Given the description of an element on the screen output the (x, y) to click on. 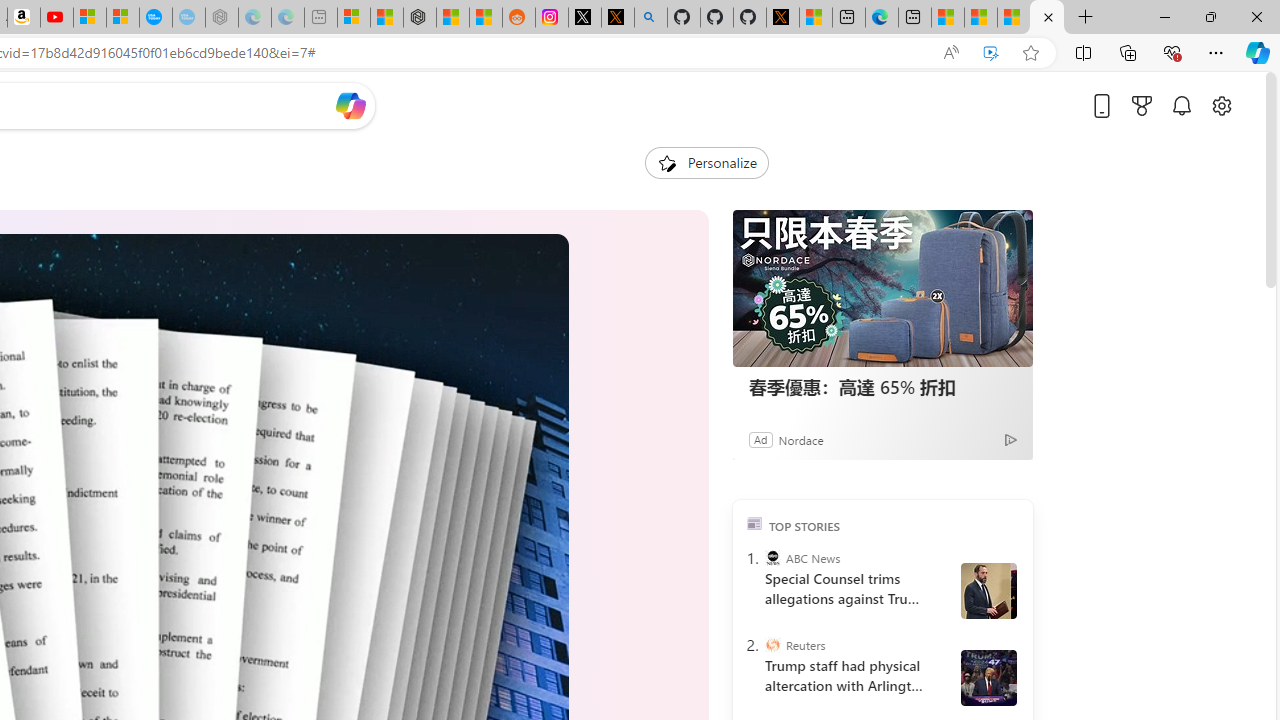
X Privacy Policy (782, 17)
MSNBC - MSN (981, 17)
Reuters (772, 645)
Open settings (1221, 105)
Microsoft account | Microsoft Account Privacy Settings (353, 17)
